Given the description of an element on the screen output the (x, y) to click on. 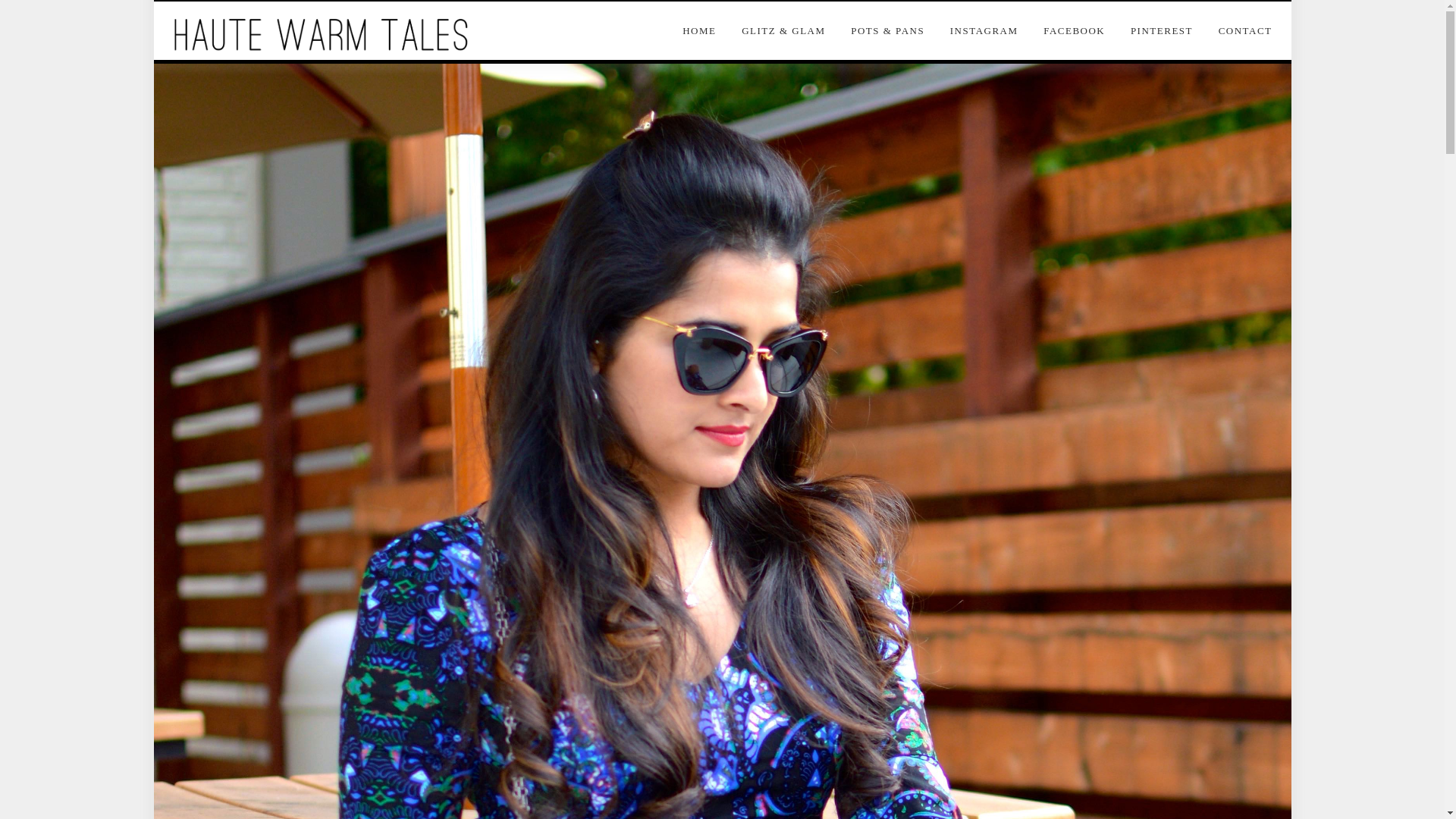
PINTEREST (1161, 26)
HOME (704, 26)
FACEBOOK (1074, 26)
INSTAGRAM (984, 26)
